Given the description of an element on the screen output the (x, y) to click on. 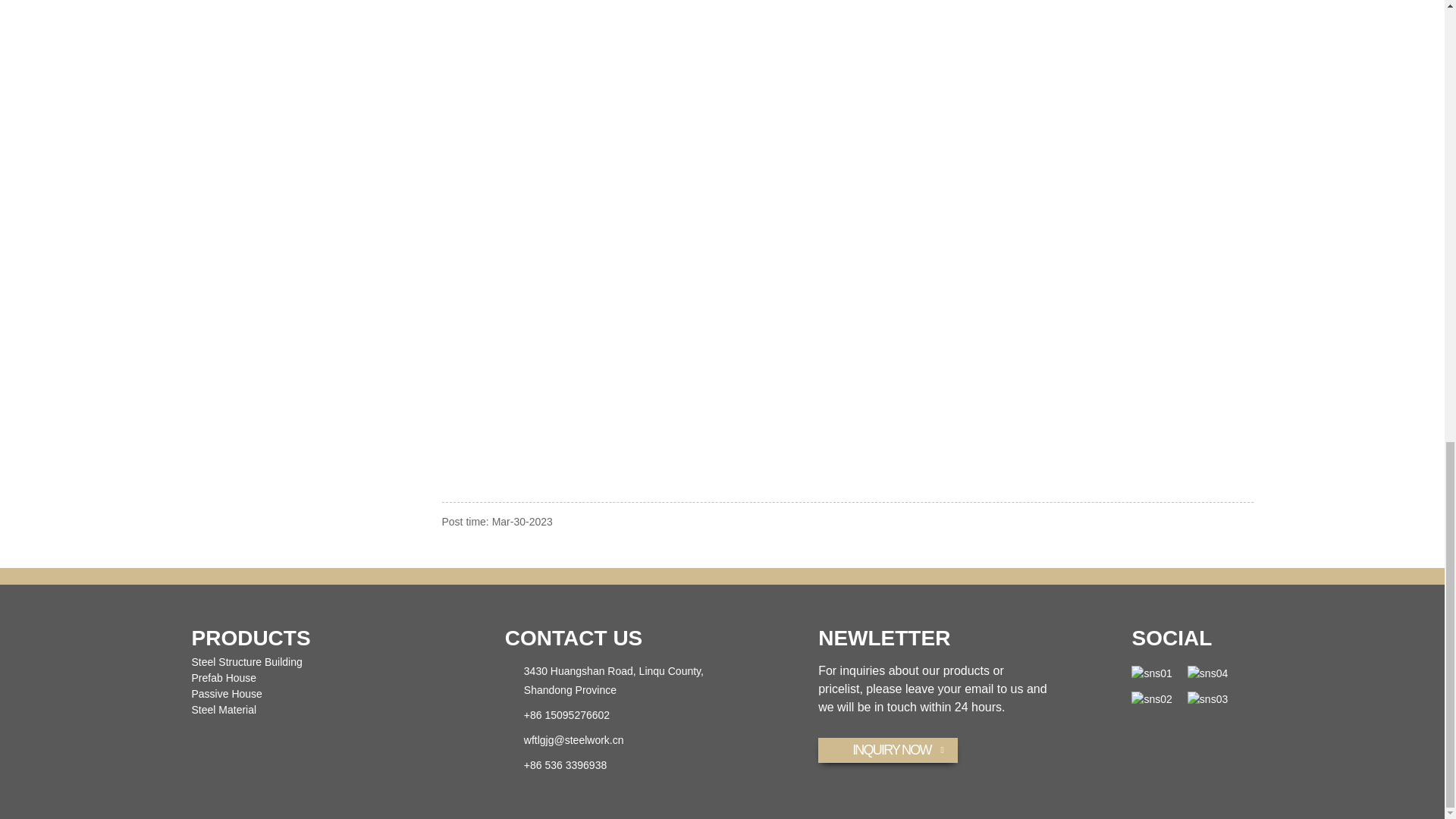
Prefab House (223, 677)
INQUIRY NOW (888, 749)
Steel Material (223, 709)
Steel Structure Building (245, 662)
Passive House (226, 693)
